Given the description of an element on the screen output the (x, y) to click on. 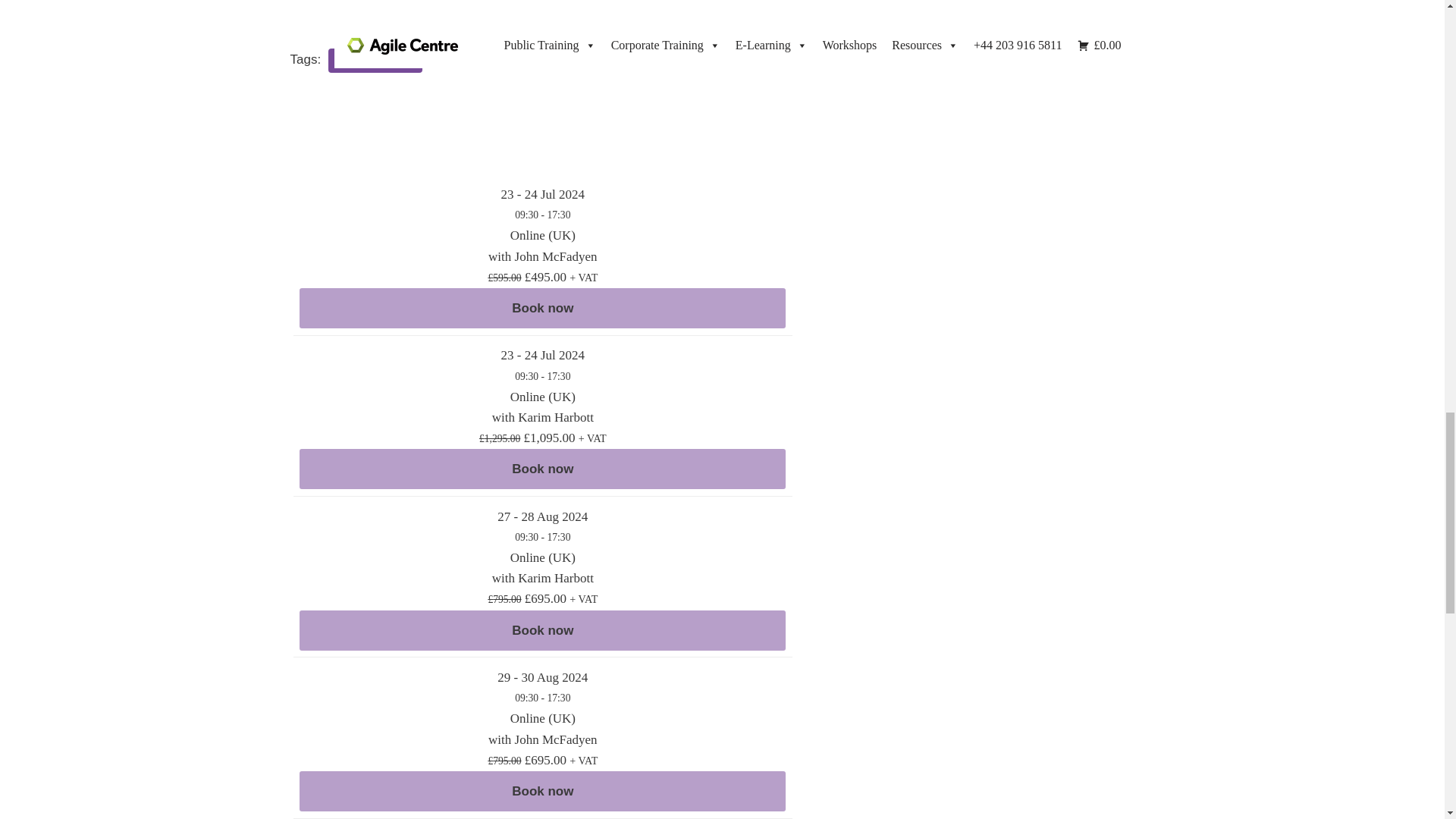
scrum master (375, 60)
